Given the description of an element on the screen output the (x, y) to click on. 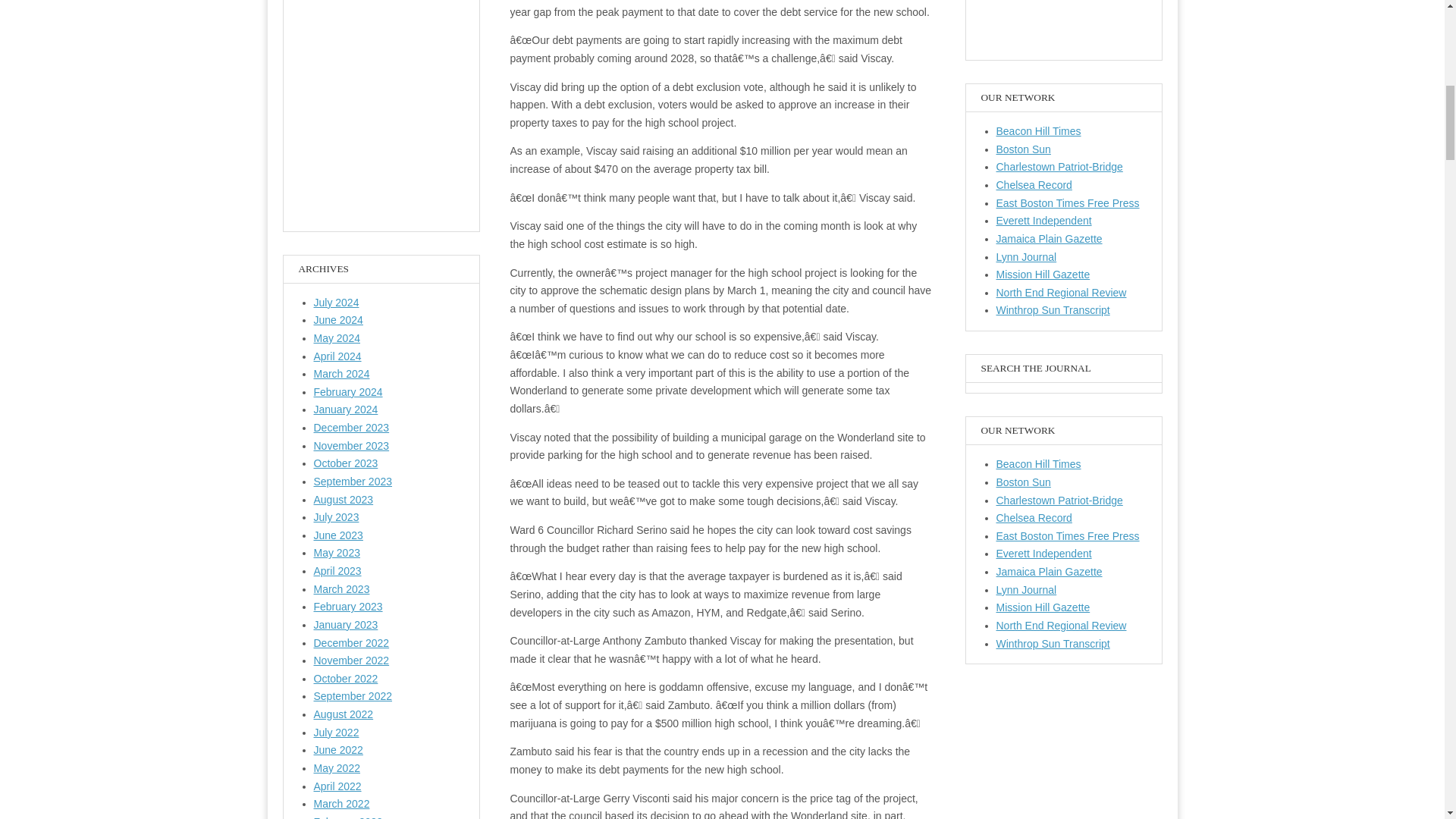
East Boston Times Free Press (1067, 203)
Everett Independent (1043, 220)
Everett Independent (1043, 553)
Chelsea Record (1033, 517)
Winthrop Sun Transcript (1052, 644)
Winthrop Sun Transcript (1052, 309)
East Boston Times Free Press (1067, 535)
Lynn Journal (1026, 256)
Chelsea Record (1033, 184)
Lynn Journal (1026, 589)
